Given the description of an element on the screen output the (x, y) to click on. 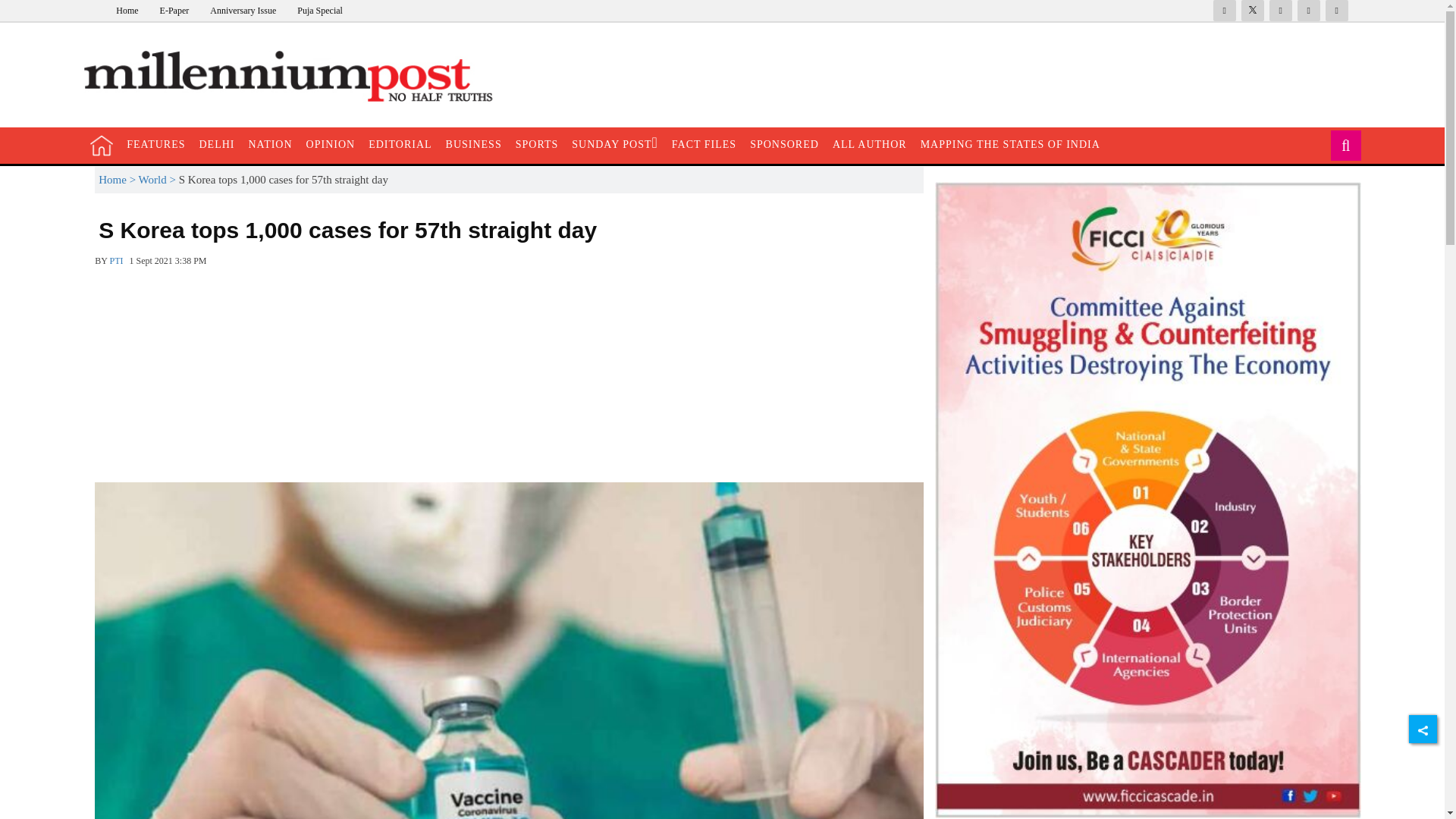
FEATURES (155, 143)
Anniversary Issue (242, 9)
home (101, 145)
FACT FILES (703, 143)
MillenniumPost (295, 76)
NATION (269, 143)
SPONSORED (783, 143)
DELHI (216, 143)
E-Paper (174, 9)
Home (127, 9)
SPORTS (537, 143)
Puja Special (319, 9)
EDITORIAL (399, 143)
